Given the description of an element on the screen output the (x, y) to click on. 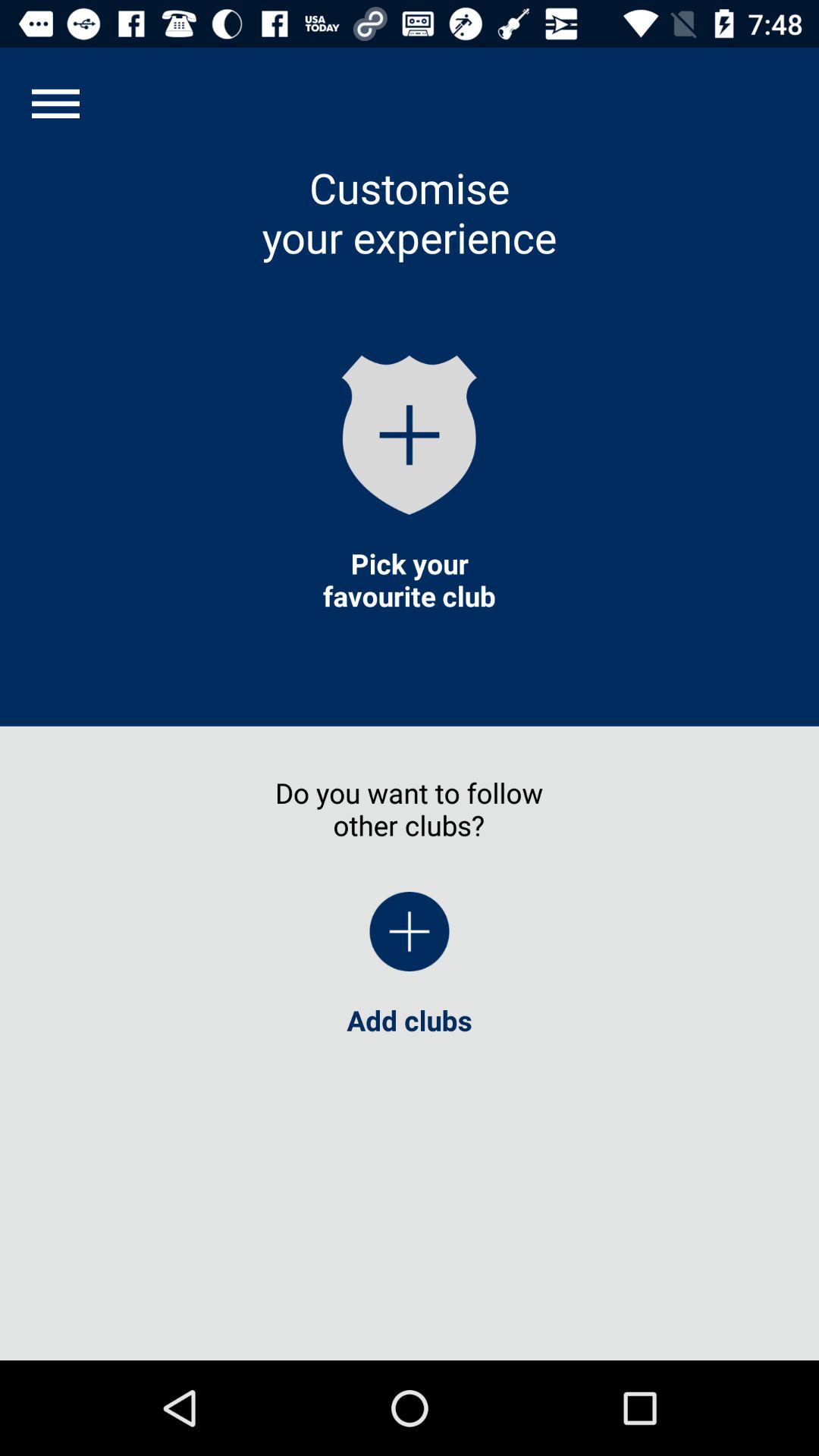
turn off pick your favourite (409, 579)
